Given the description of an element on the screen output the (x, y) to click on. 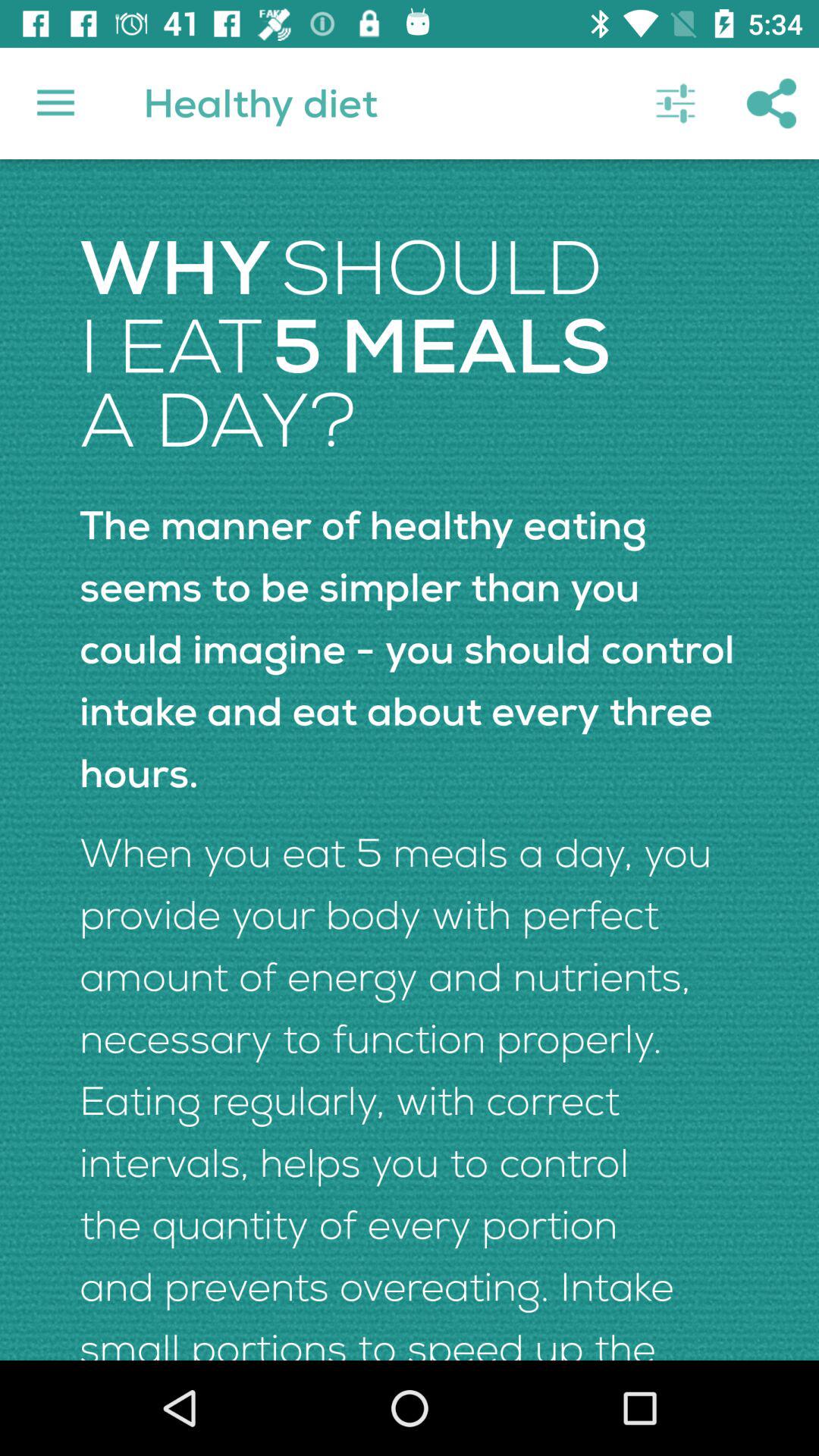
open item next to the healthy diet icon (55, 103)
